Given the description of an element on the screen output the (x, y) to click on. 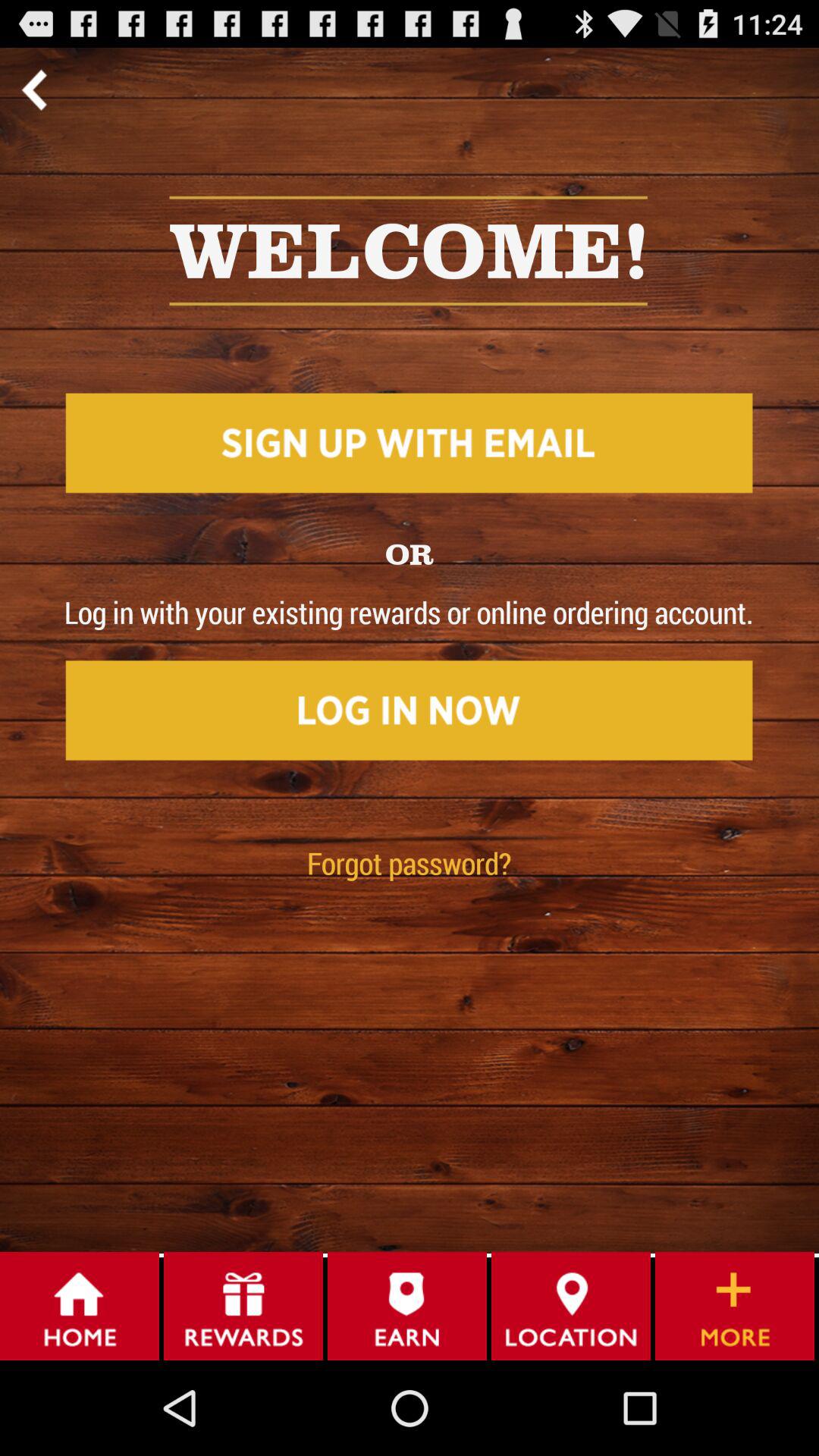
select forgot password? app (409, 862)
